Given the description of an element on the screen output the (x, y) to click on. 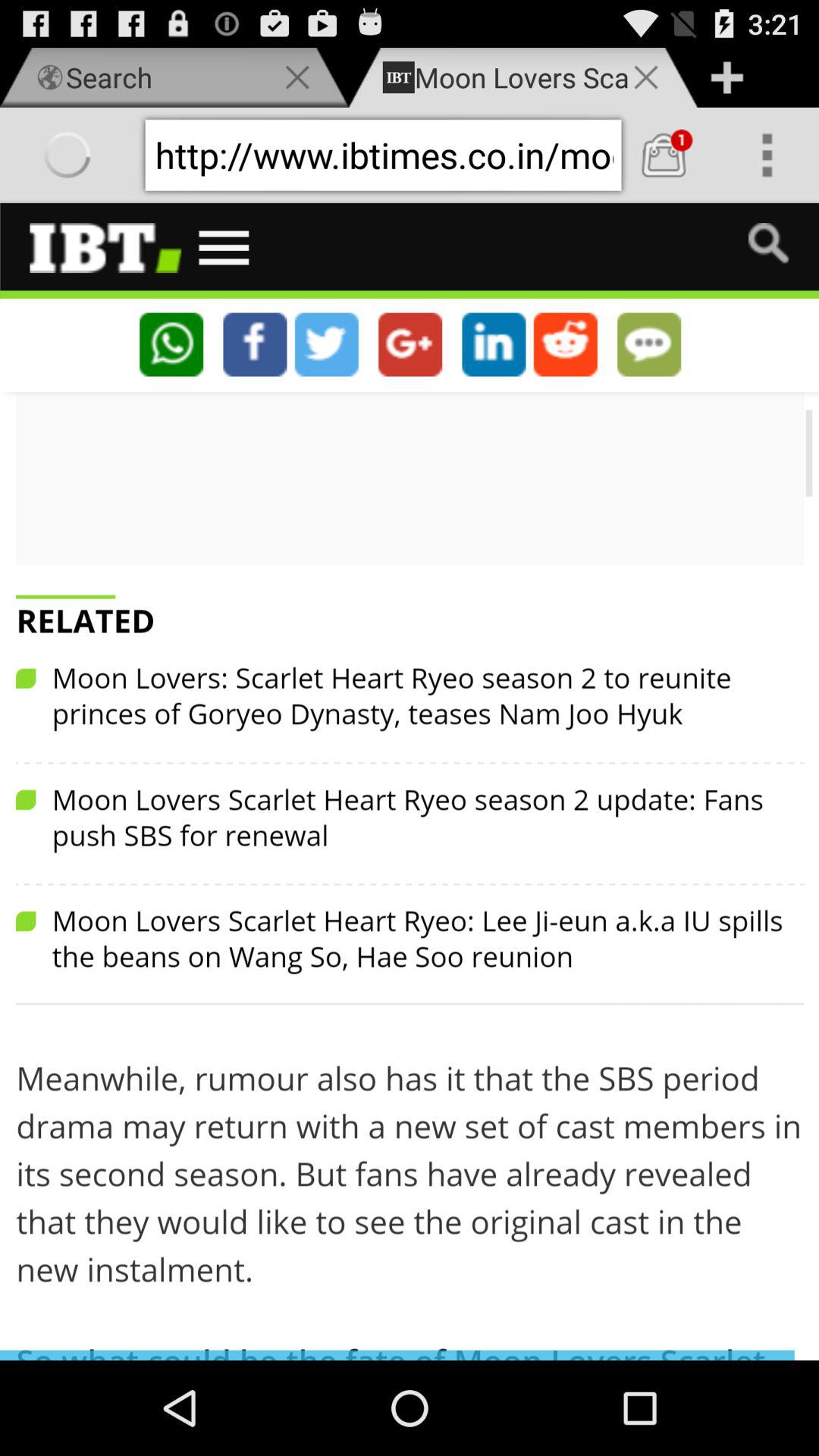
more option button (767, 155)
